Given the description of an element on the screen output the (x, y) to click on. 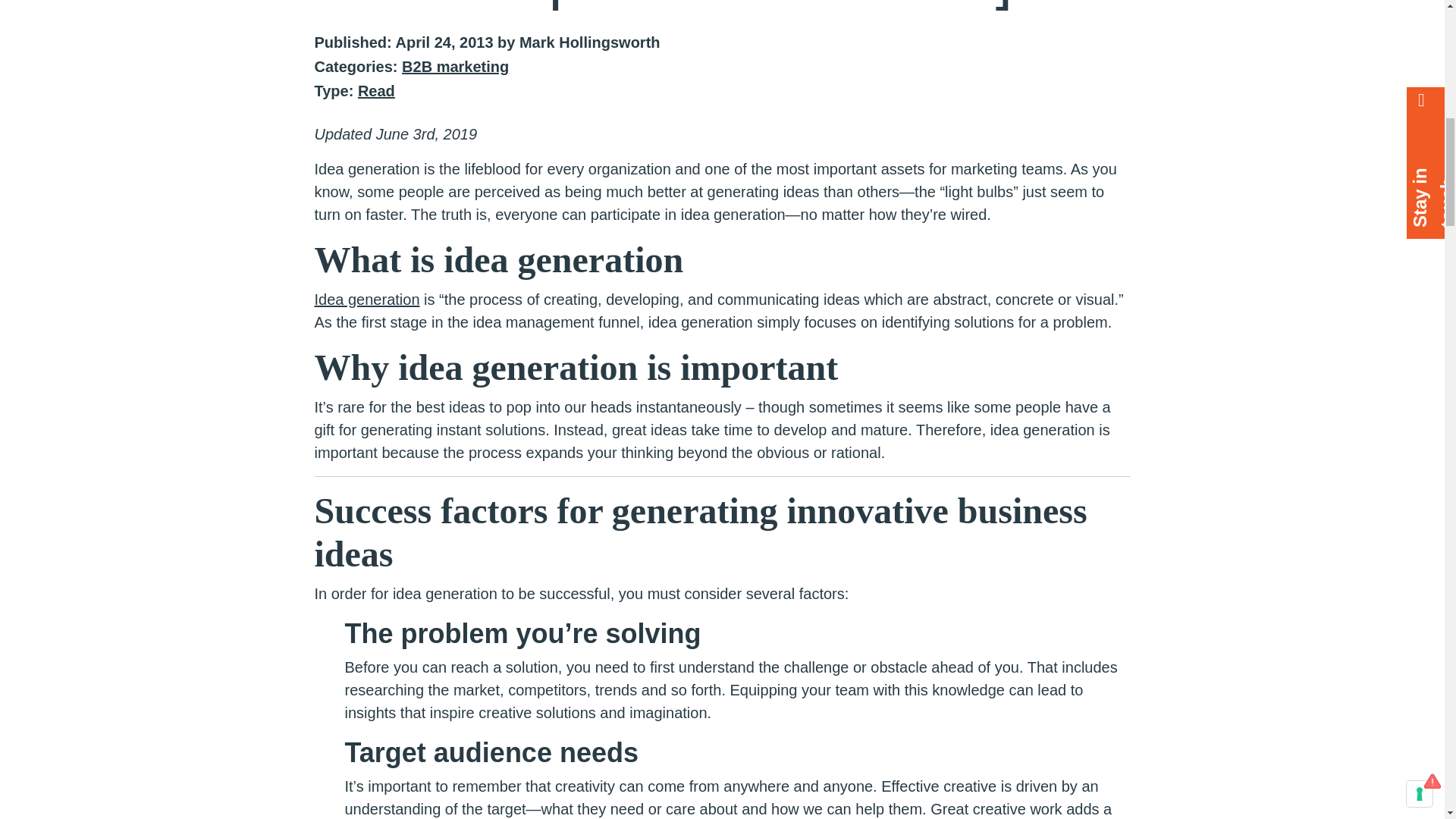
Idea generation (366, 299)
Read (376, 90)
B2B marketing (454, 66)
